Given the description of an element on the screen output the (x, y) to click on. 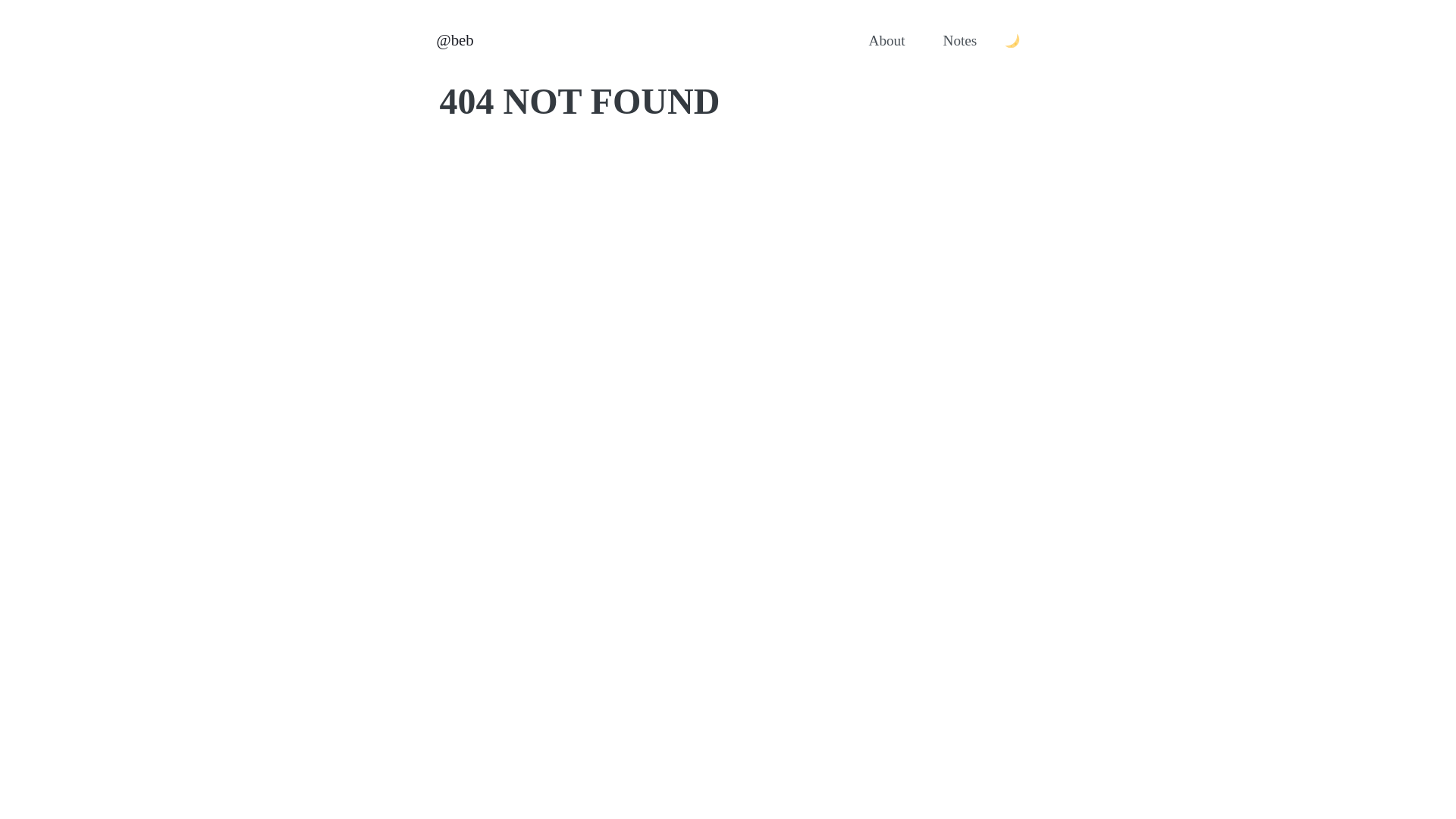
Notes Element type: text (960, 40)
@beb Element type: text (455, 40)
About Element type: text (887, 40)
